Given the description of an element on the screen output the (x, y) to click on. 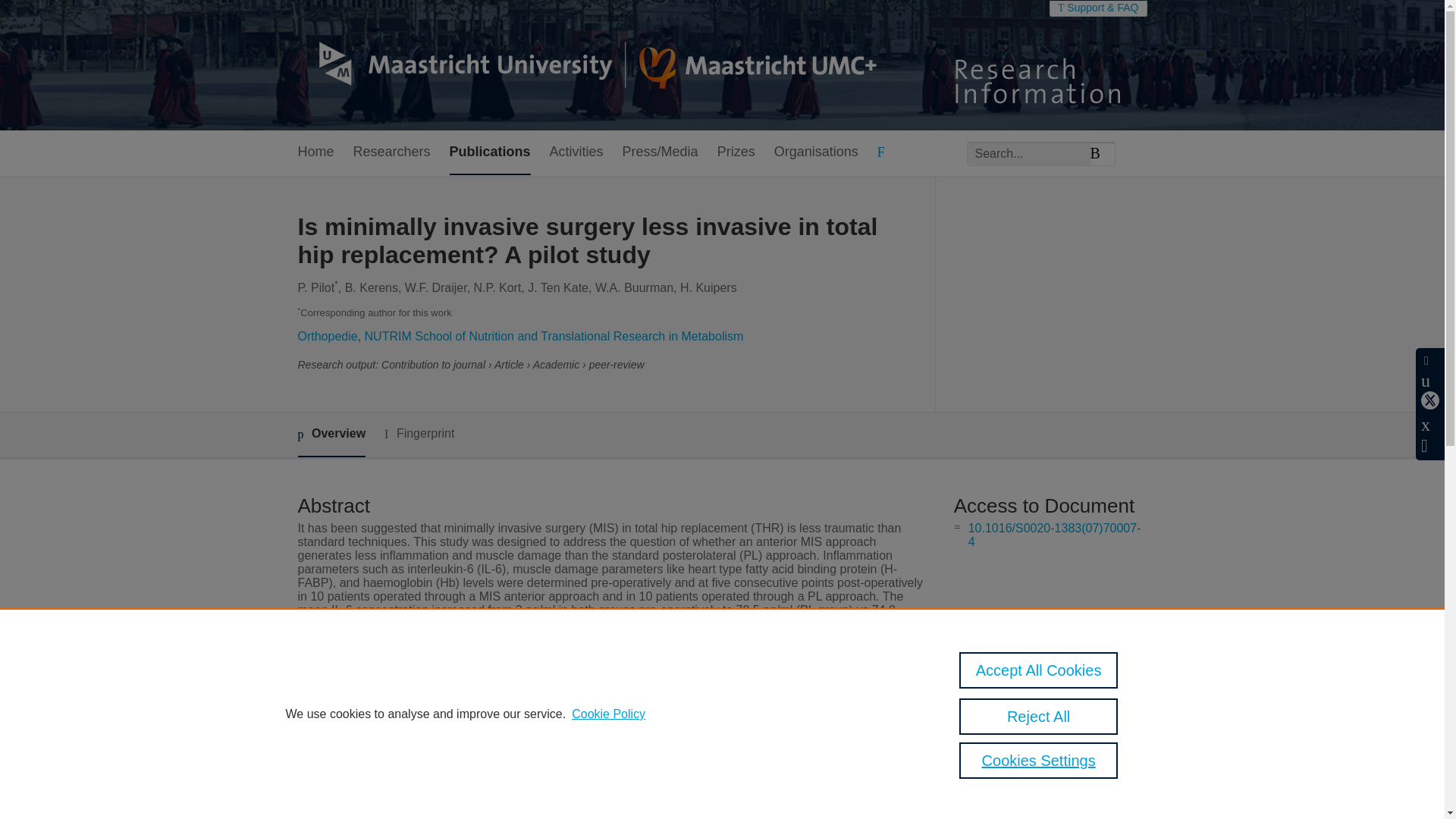
Maastricht University Home (586, 64)
Researchers (391, 152)
Publications (490, 152)
Organisations (816, 152)
Activities (577, 152)
Orthopedie (326, 336)
Injury-International Journal of the Care of the Injured (645, 792)
Overview (331, 434)
Fingerprint (419, 433)
